Given the description of an element on the screen output the (x, y) to click on. 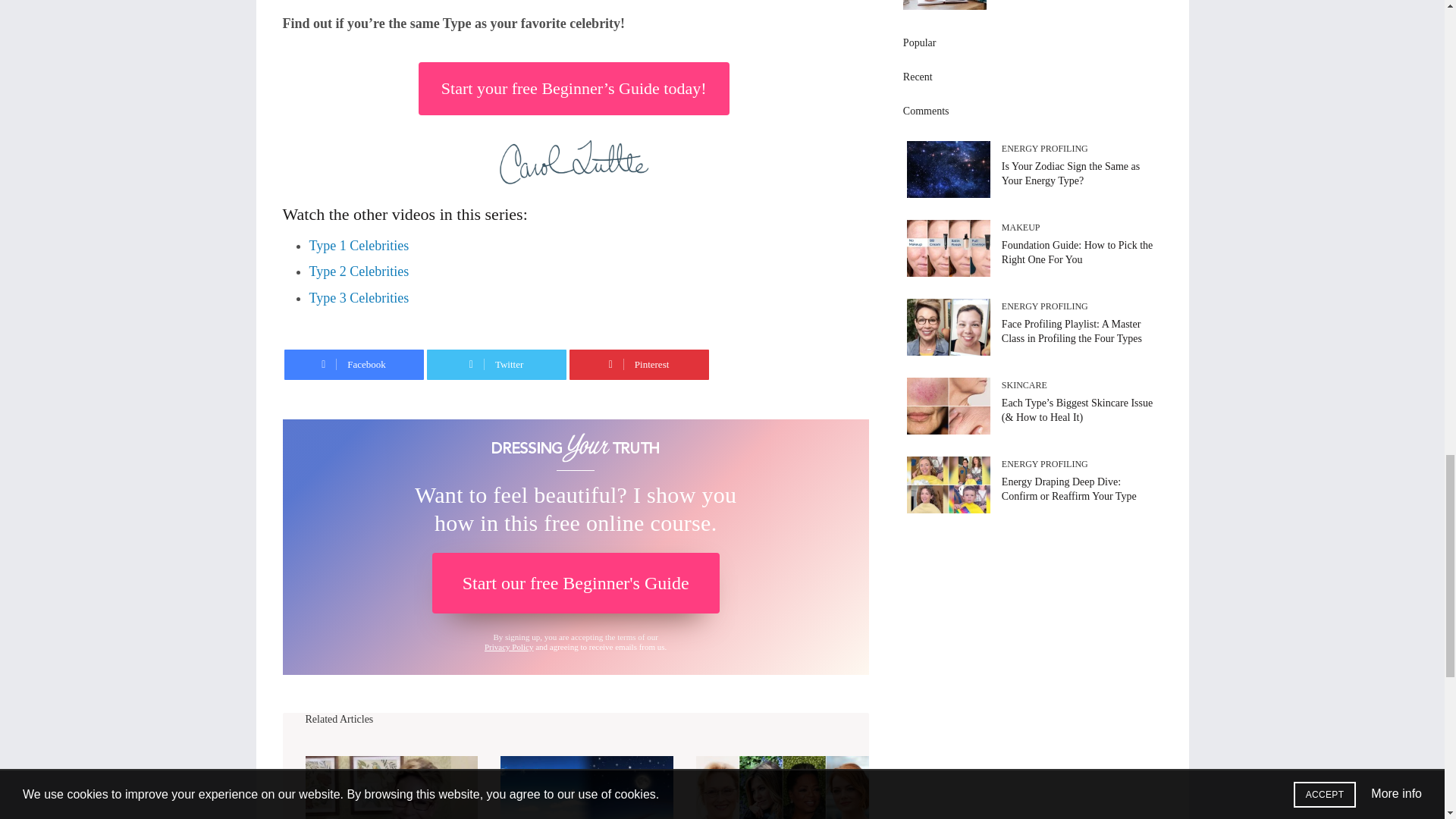
What Your Favorite Time of Day Says About You (586, 787)
